Given the description of an element on the screen output the (x, y) to click on. 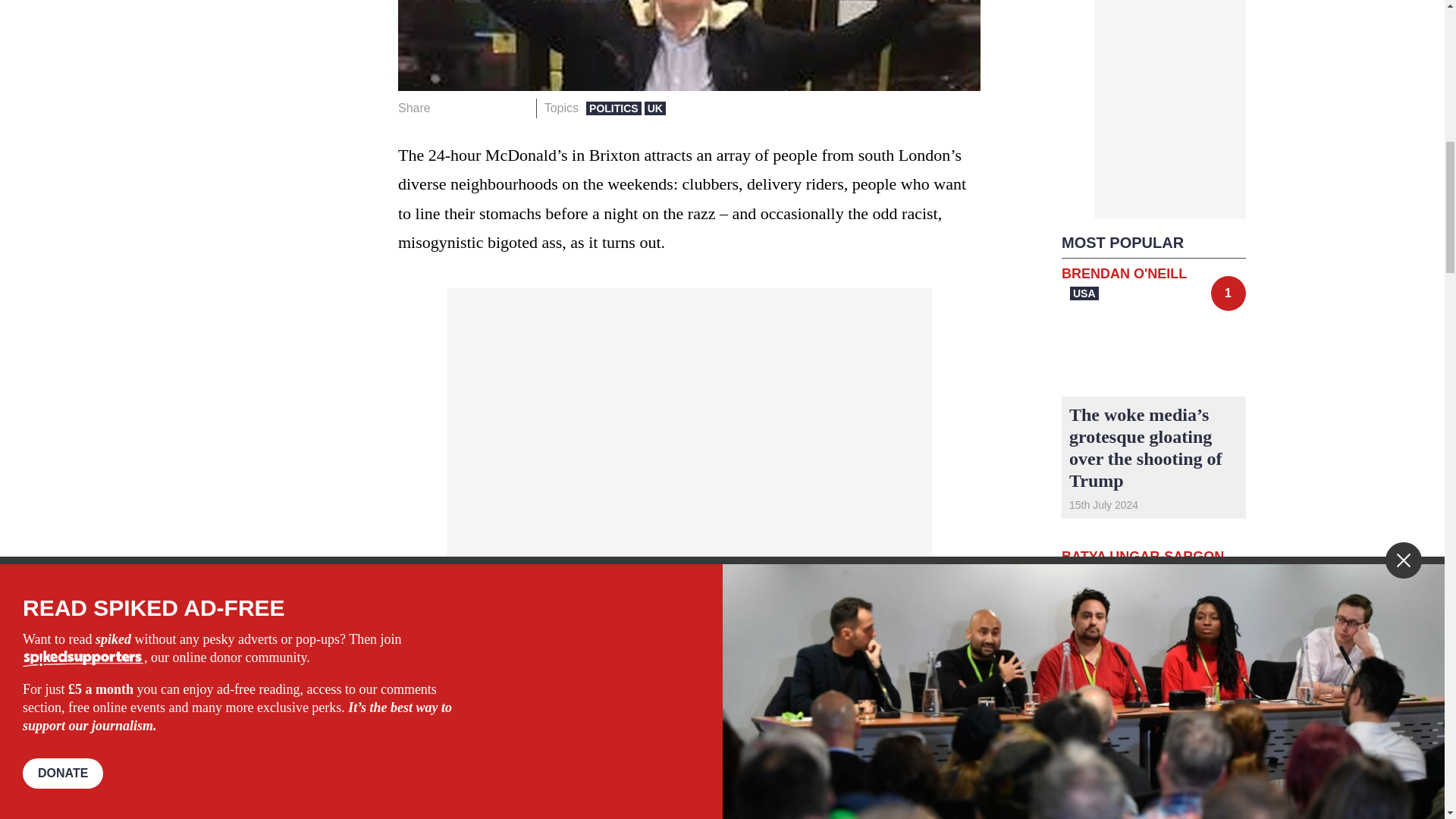
Share on Email (518, 107)
Share on Twitter (471, 107)
Share on Facebook (448, 107)
Share on Whatsapp (494, 107)
